Given the description of an element on the screen output the (x, y) to click on. 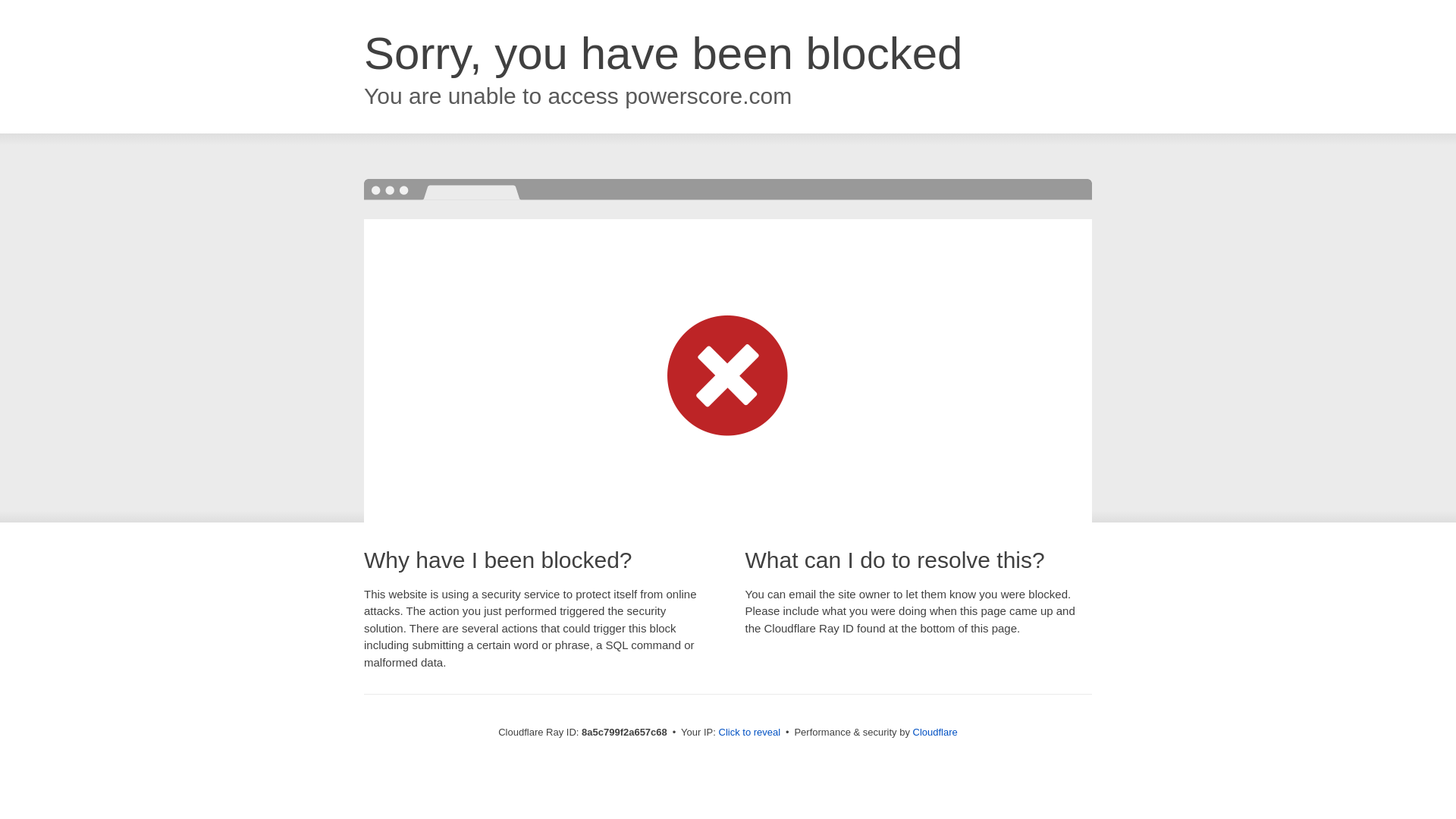
Cloudflare (935, 731)
Click to reveal (749, 732)
